Given the description of an element on the screen output the (x, y) to click on. 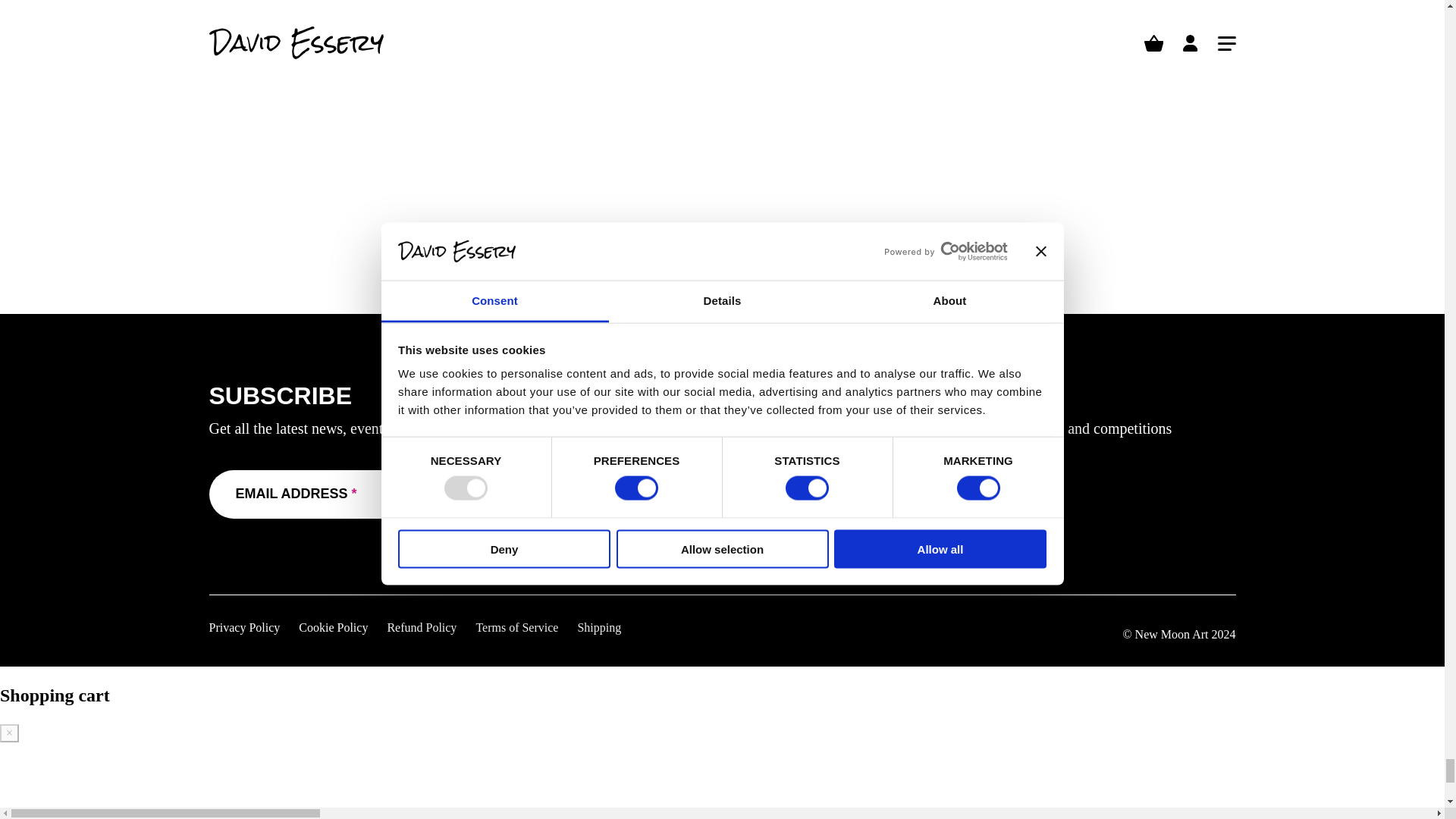
Close Cart (9, 732)
